Given the description of an element on the screen output the (x, y) to click on. 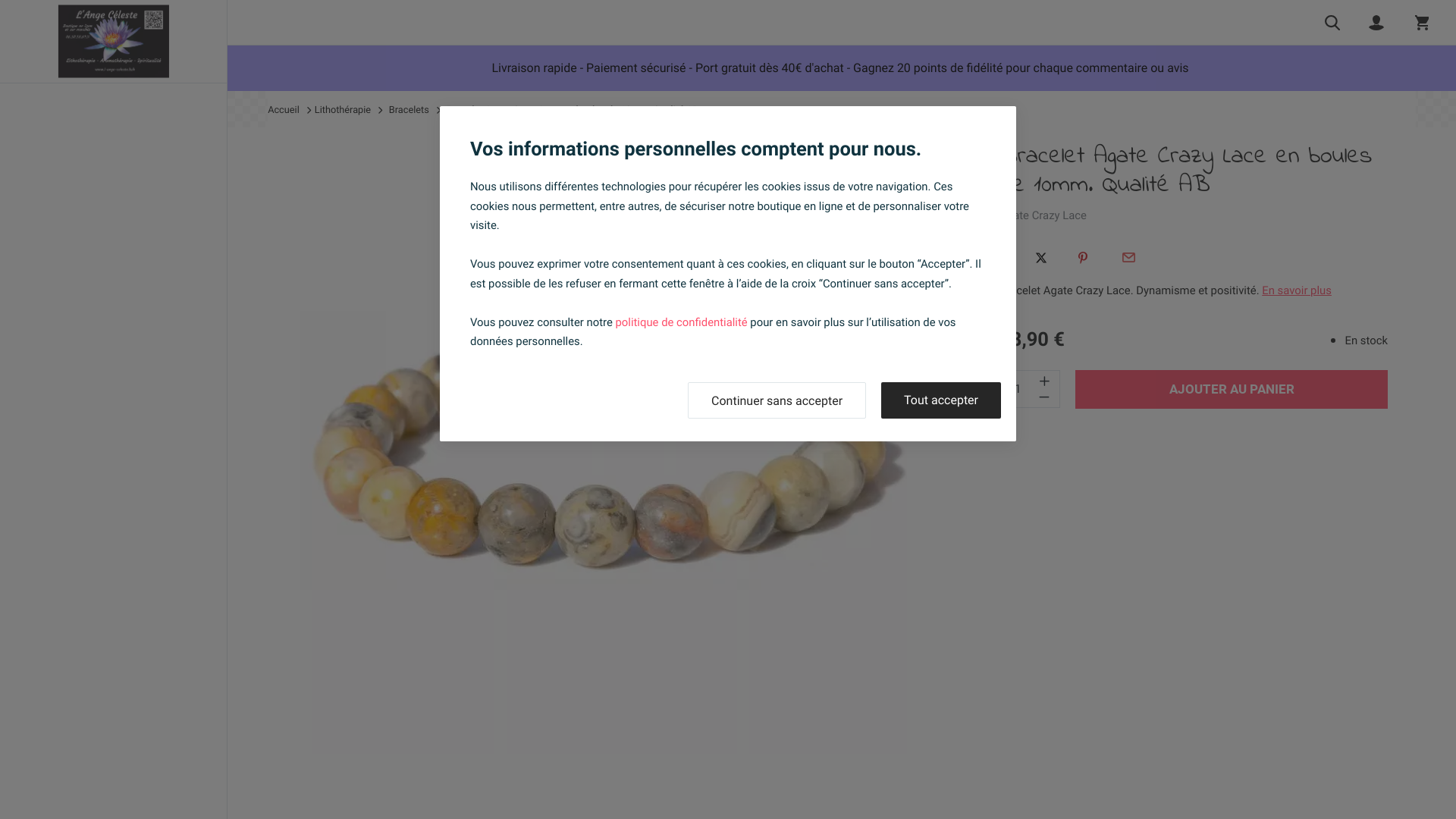
PINTEREST Element type: text (1082, 257)
PAR EMAIL Element type: text (1128, 257)
Continuer sans accepter Element type: text (776, 400)
Agate Crazy Lace Element type: text (1042, 214)
Accueil Element type: text (283, 111)
Bracelets Element type: text (409, 111)
Tout accepter Element type: text (941, 400)
FACEBOOK Element type: text (999, 257)
AJOUTER AU PANIER Element type: text (1231, 389)
